Given the description of an element on the screen output the (x, y) to click on. 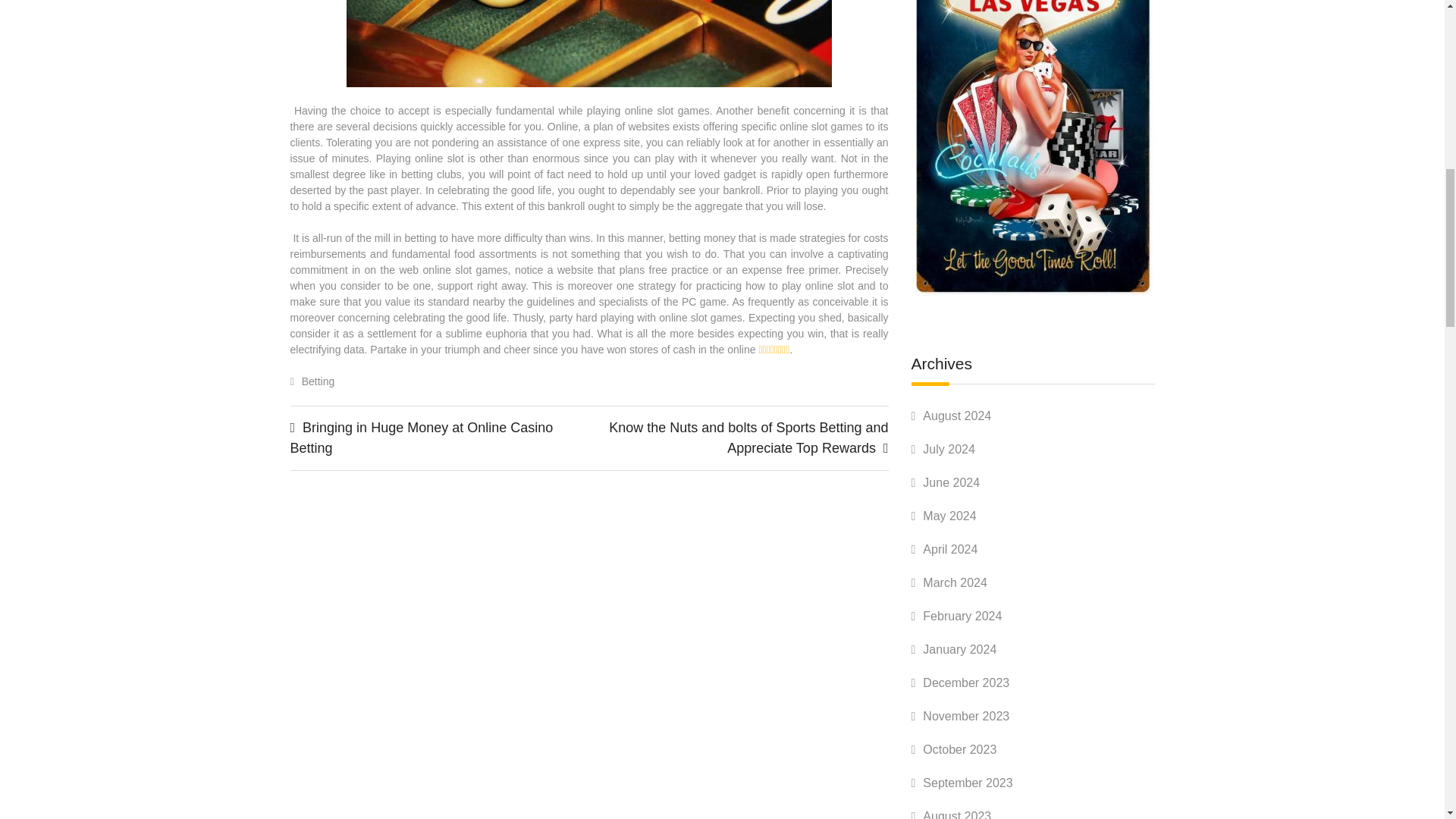
Bringing in Huge Money at Online Casino Betting (421, 437)
November 2023 (966, 716)
June 2024 (951, 481)
August 2023 (957, 814)
September 2023 (967, 782)
Betting (317, 381)
March 2024 (955, 582)
July 2024 (949, 449)
October 2023 (959, 748)
